Given the description of an element on the screen output the (x, y) to click on. 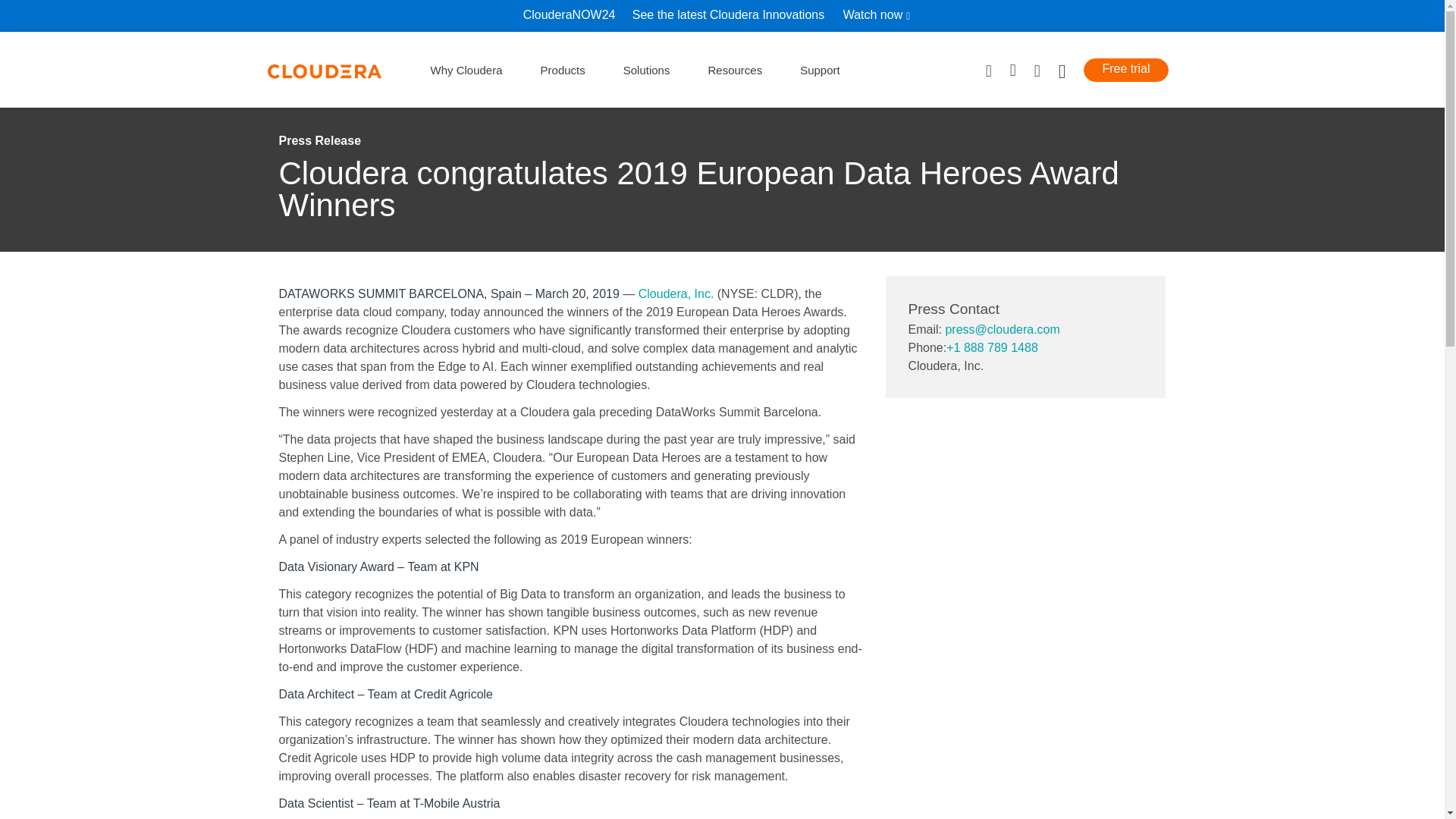
Solutions (646, 69)
Watch now (882, 14)
Why Cloudera (466, 69)
Products (562, 69)
